Given the description of an element on the screen output the (x, y) to click on. 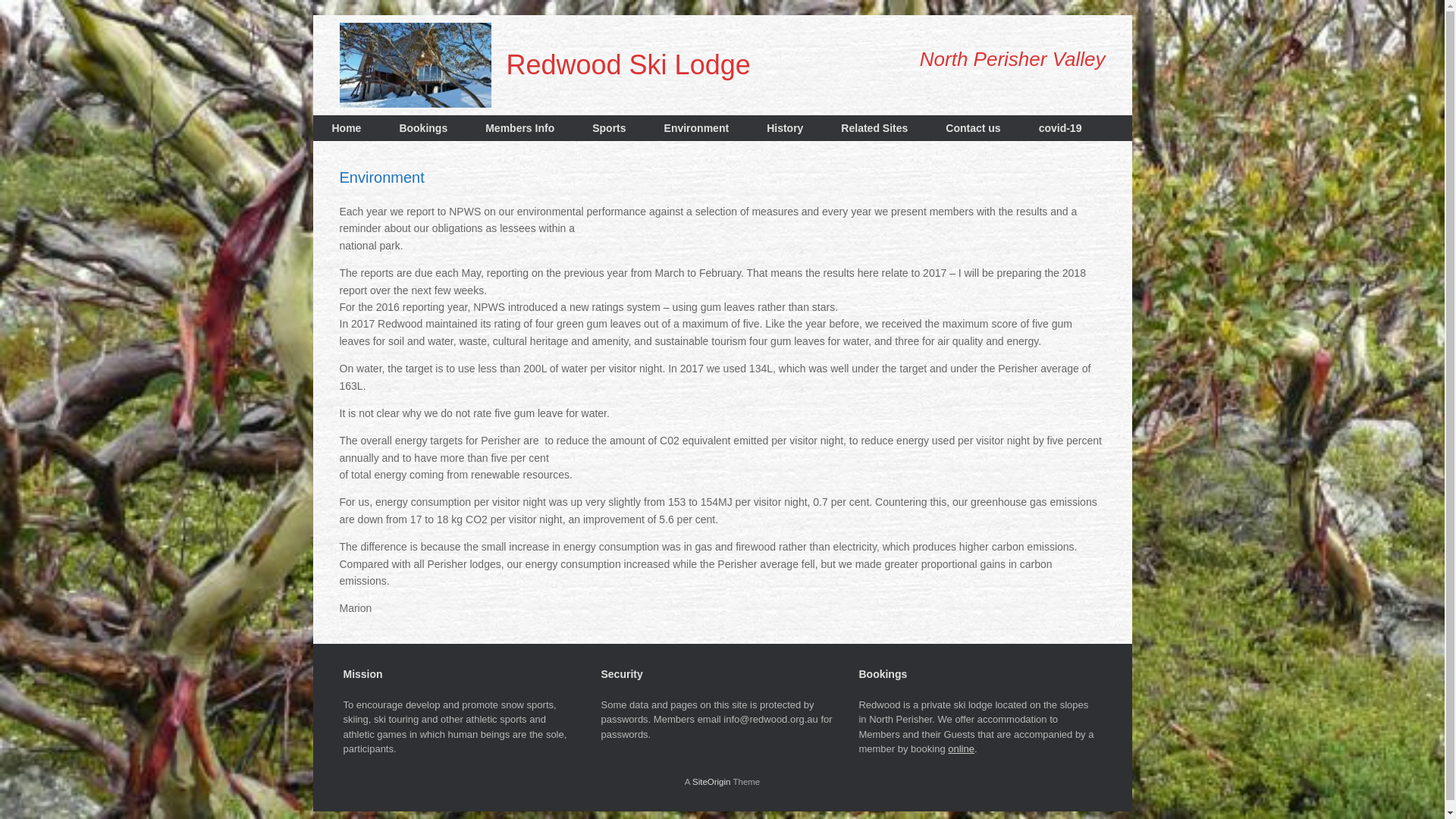
SiteOrigin Element type: text (711, 781)
Skip to content Element type: text (312, 14)
online Element type: text (960, 748)
Environment Element type: text (696, 128)
Home Element type: text (345, 128)
covid-19 Element type: text (1060, 128)
Bookings Element type: text (422, 128)
Related Sites Element type: text (874, 128)
Members Info Element type: text (519, 128)
Contact us Element type: text (972, 128)
Redwood Ski Lodge Element type: text (544, 64)
History Element type: text (784, 128)
Sports Element type: text (608, 128)
